Given the description of an element on the screen output the (x, y) to click on. 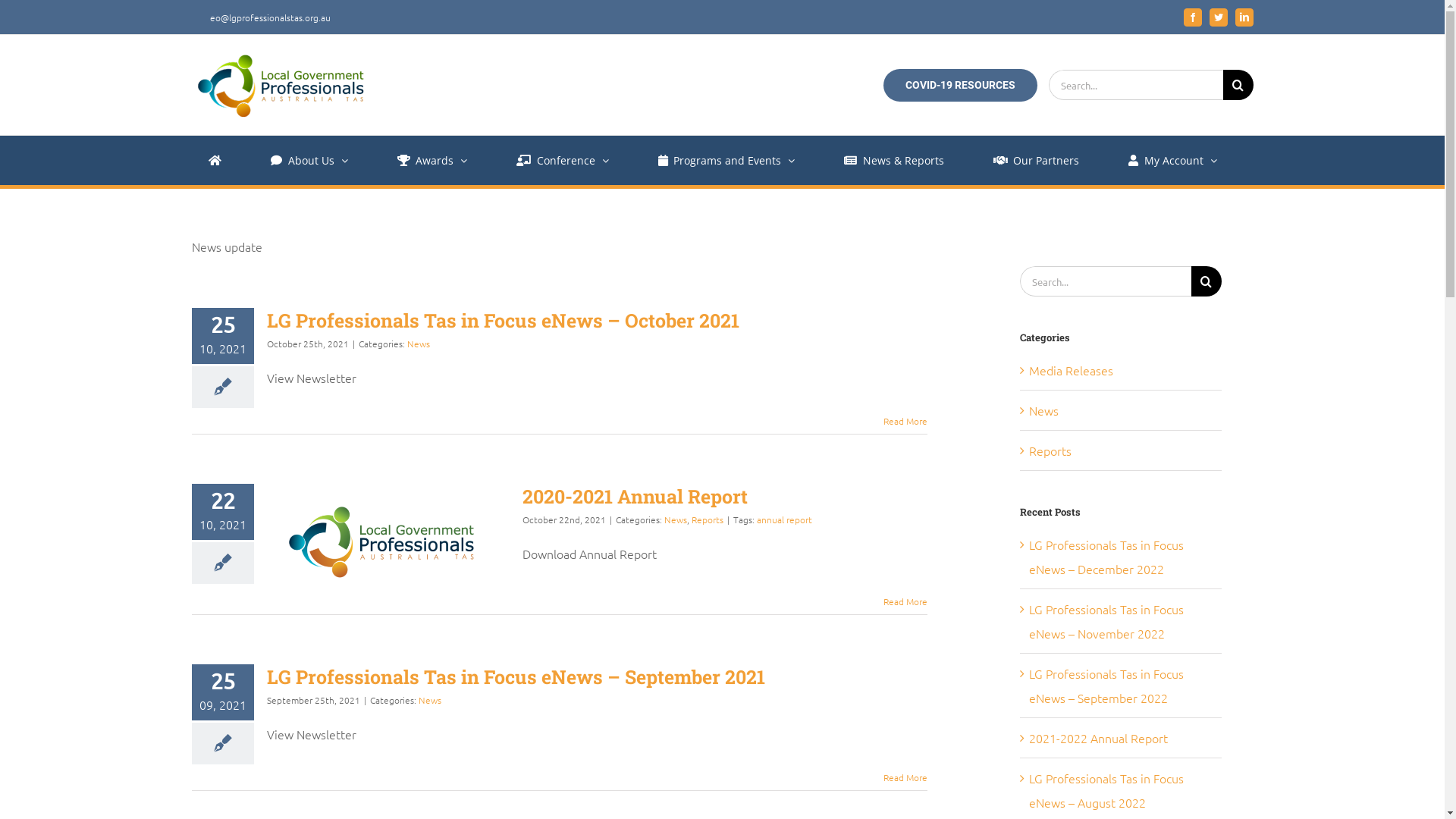
2020-2021 Annual Report Element type: text (633, 495)
News Element type: text (1120, 410)
Read More Element type: text (904, 777)
Twitter Element type: text (1217, 17)
Programs and Events Element type: text (726, 160)
2021-2022 Annual Report Element type: text (1097, 737)
Reports Element type: text (1120, 450)
Our Partners Element type: text (1036, 160)
News Element type: text (429, 699)
News Element type: text (417, 343)
Read More Element type: text (904, 420)
News & Reports Element type: text (893, 160)
About Us Element type: text (309, 160)
annual report Element type: text (784, 519)
My Account Element type: text (1172, 160)
Reports Element type: text (707, 519)
Awards Element type: text (432, 160)
Media Releases Element type: text (1120, 369)
News Element type: text (675, 519)
Facebook Element type: text (1192, 17)
Read More Element type: text (904, 601)
COVID-19 RESOURCES Element type: text (959, 84)
Conference Element type: text (562, 160)
LinkedIn Element type: text (1243, 17)
eo@lgprofessionalstas.org.au Element type: text (260, 16)
